Given the description of an element on the screen output the (x, y) to click on. 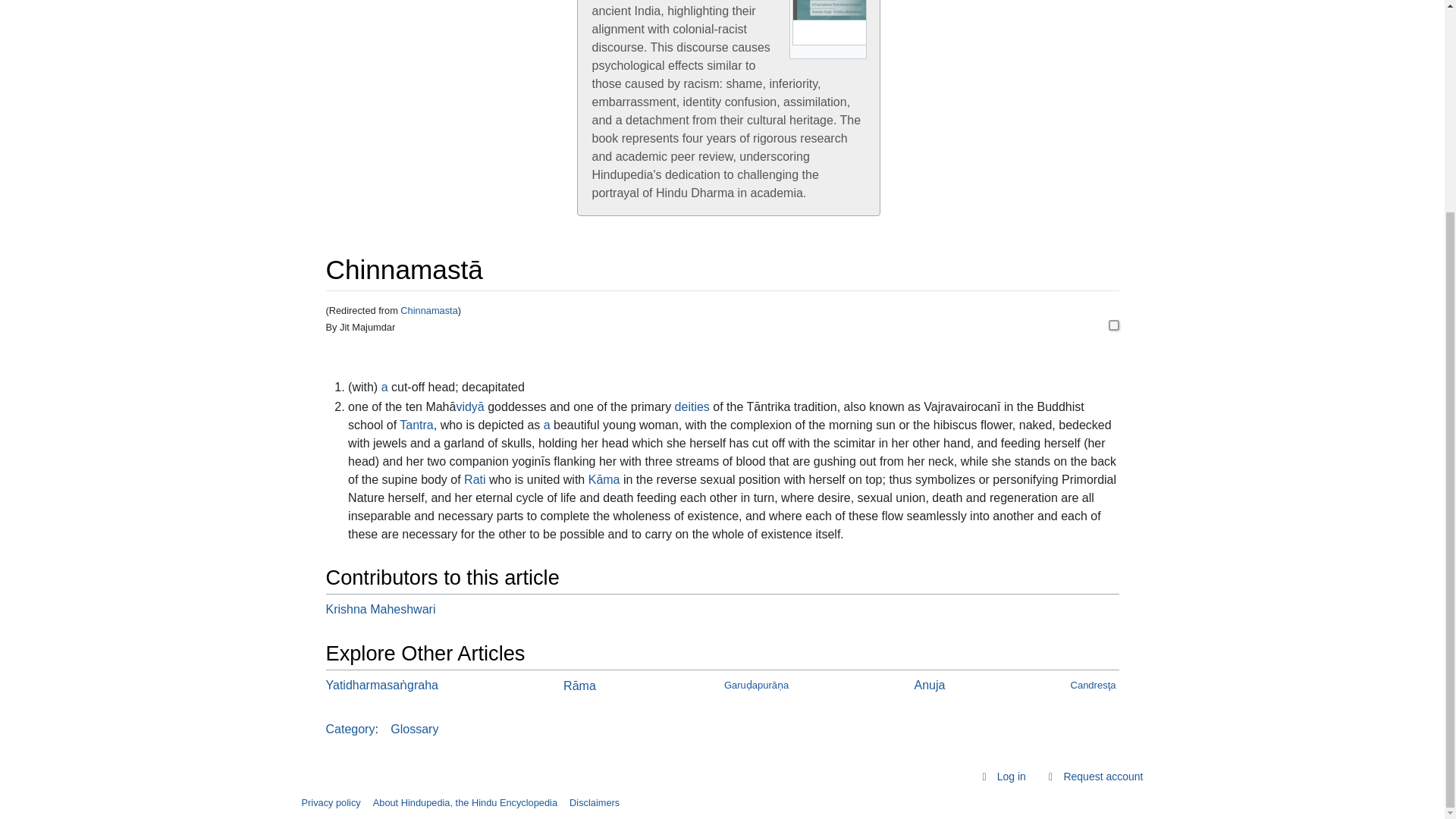
Tantra (415, 424)
Deities (692, 406)
Anuja (929, 684)
Rati (474, 479)
Request account (1092, 776)
Rati (474, 479)
Enlarge (854, 51)
Special:Categories (350, 728)
Category (350, 728)
Chinnamasta (428, 310)
